Given the description of an element on the screen output the (x, y) to click on. 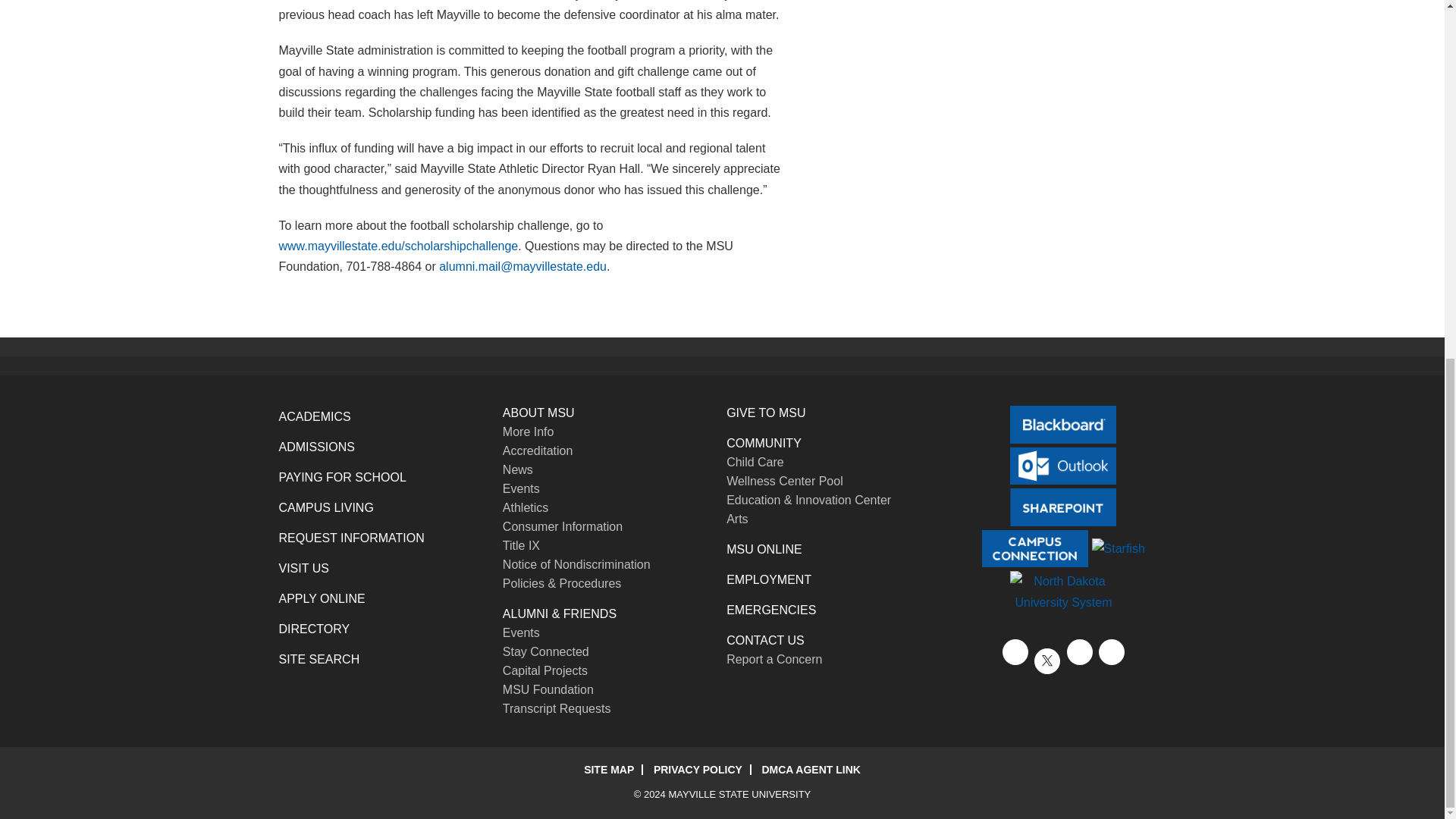
Visit Us (304, 567)
Site Search (319, 658)
Paying for School (342, 477)
Admissions (317, 446)
About MSU (538, 412)
Campus Living (326, 507)
Apply Now (322, 598)
Request Information (352, 537)
Academics (314, 416)
